Given the description of an element on the screen output the (x, y) to click on. 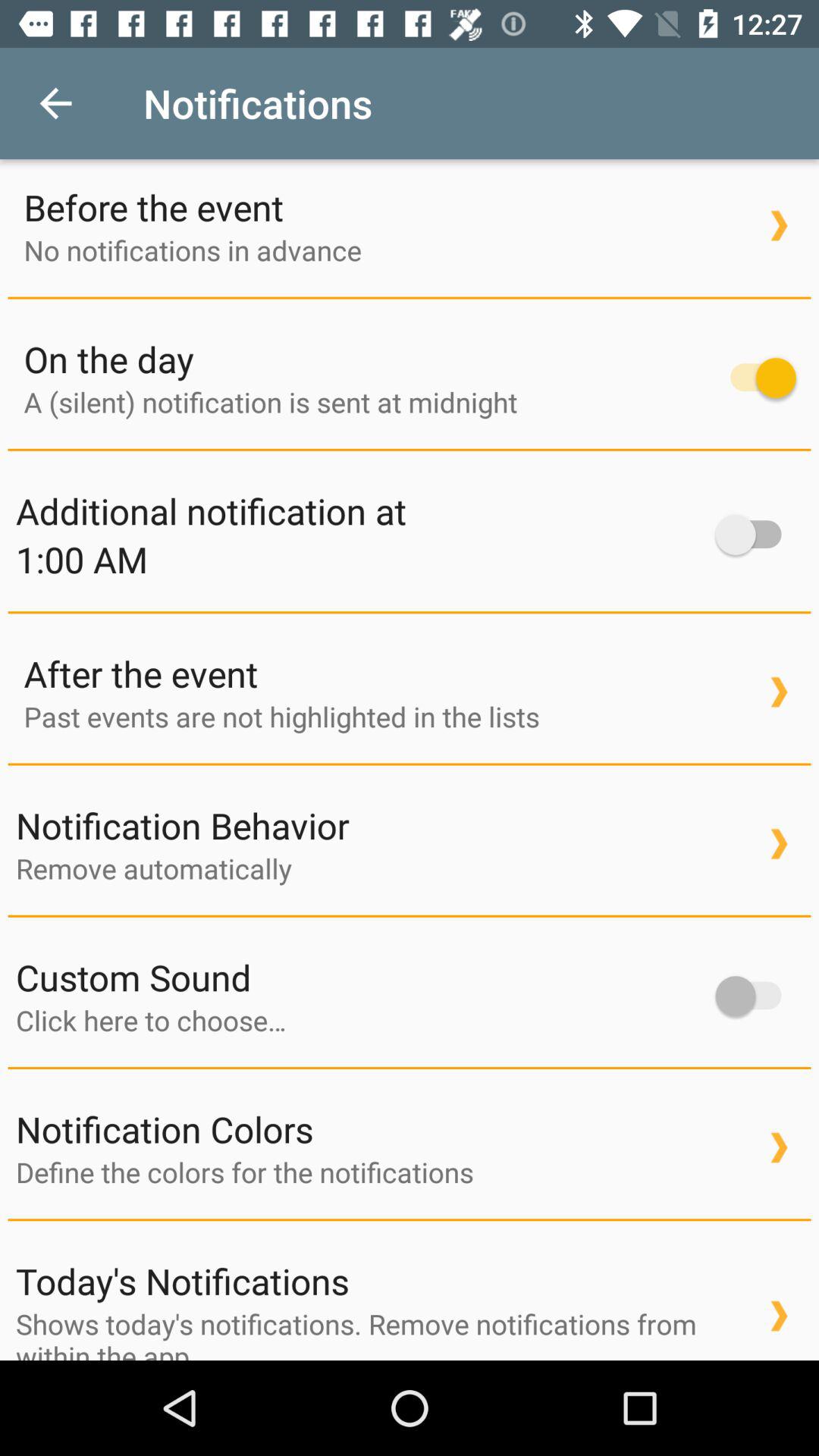
turn on item to the right of on the day (755, 377)
